Given the description of an element on the screen output the (x, y) to click on. 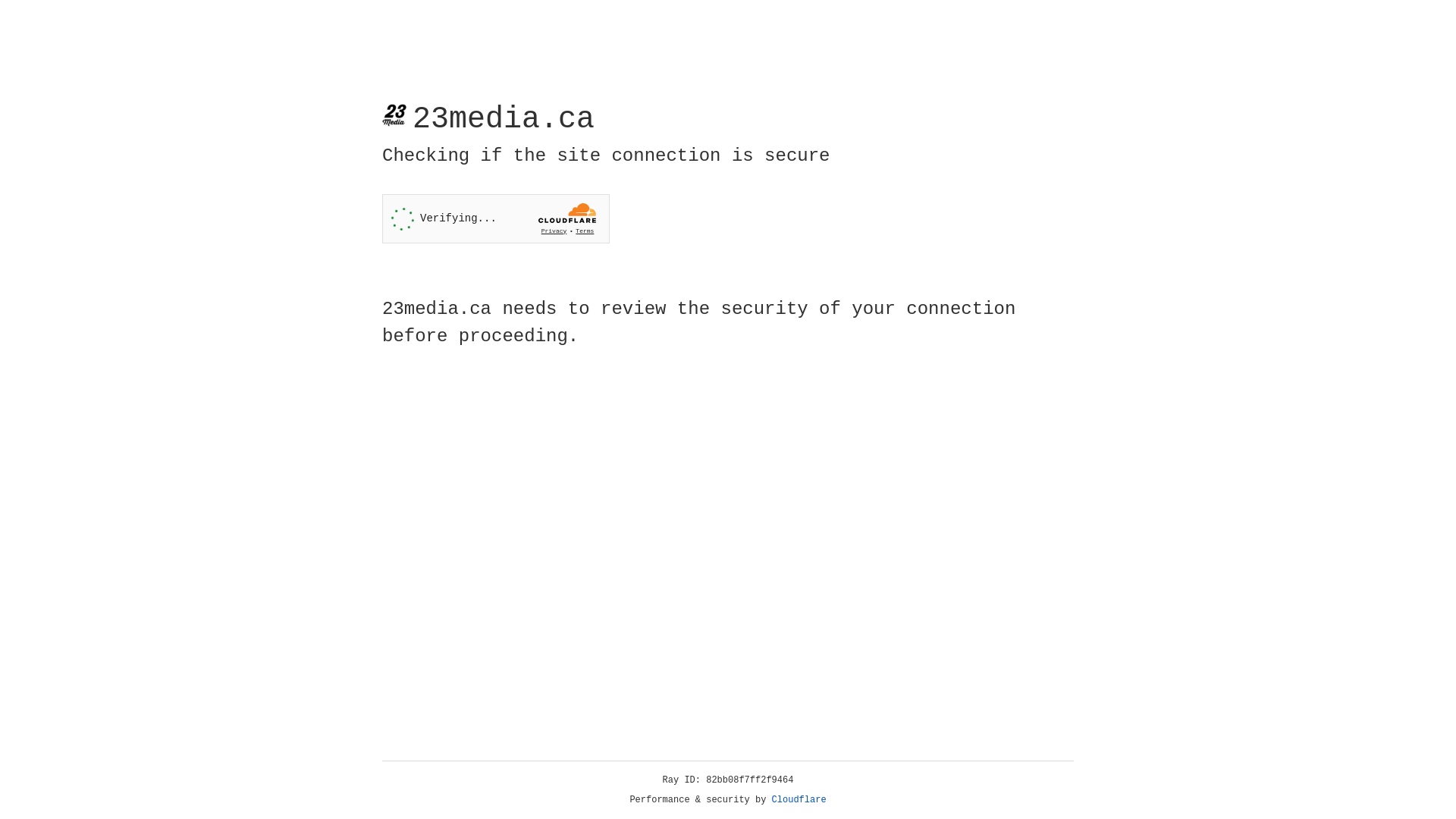
Cloudflare Element type: text (798, 799)
Widget containing a Cloudflare security challenge Element type: hover (495, 218)
